Given the description of an element on the screen output the (x, y) to click on. 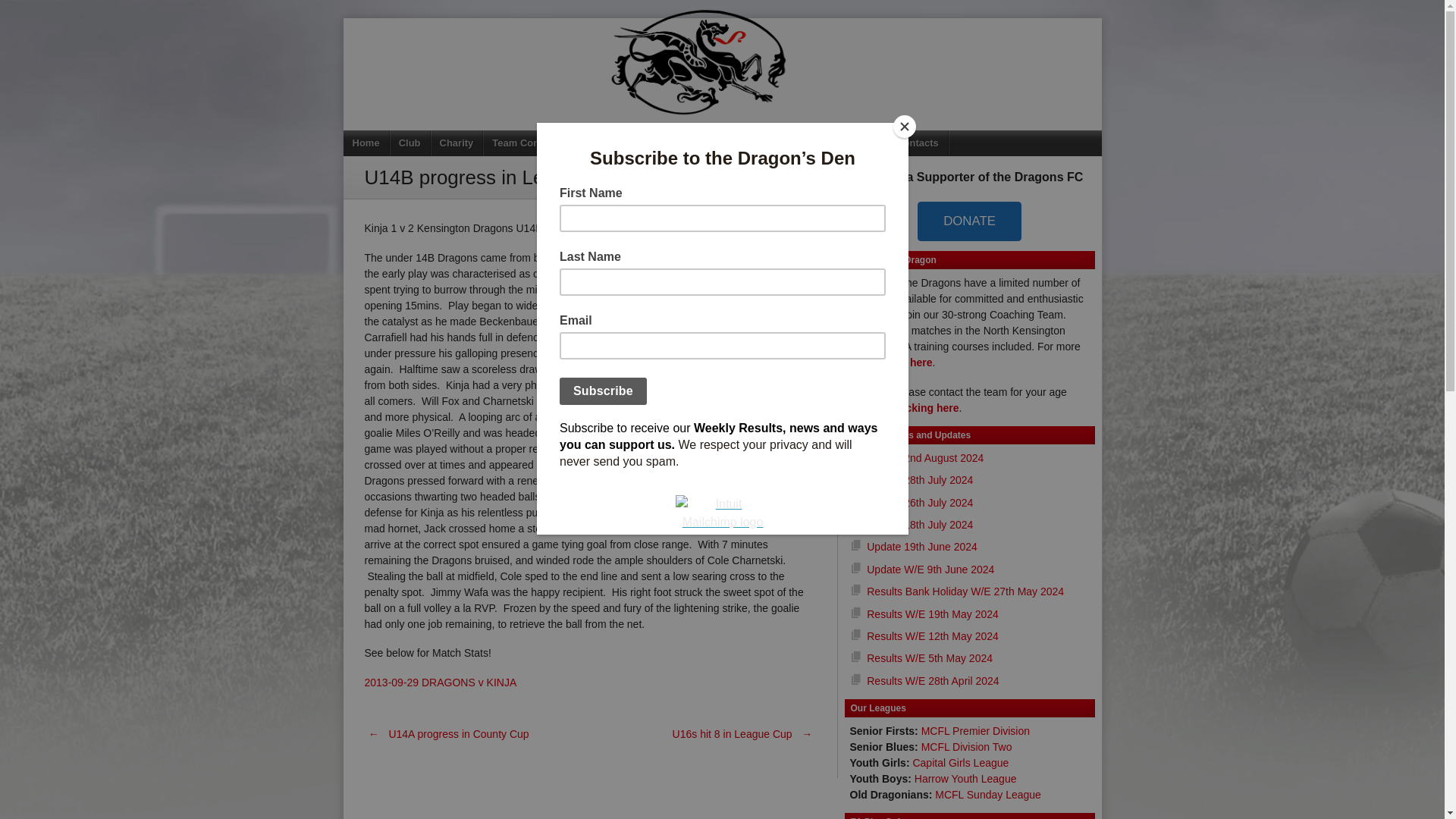
Education (692, 143)
2013-09-29 DRAGONS v KINJA (440, 682)
Team Contacts (527, 143)
Safeguarding (767, 143)
Home (365, 143)
Match Reports (615, 143)
Club (410, 143)
Charity (456, 143)
Club Contacts (906, 143)
